Given the description of an element on the screen output the (x, y) to click on. 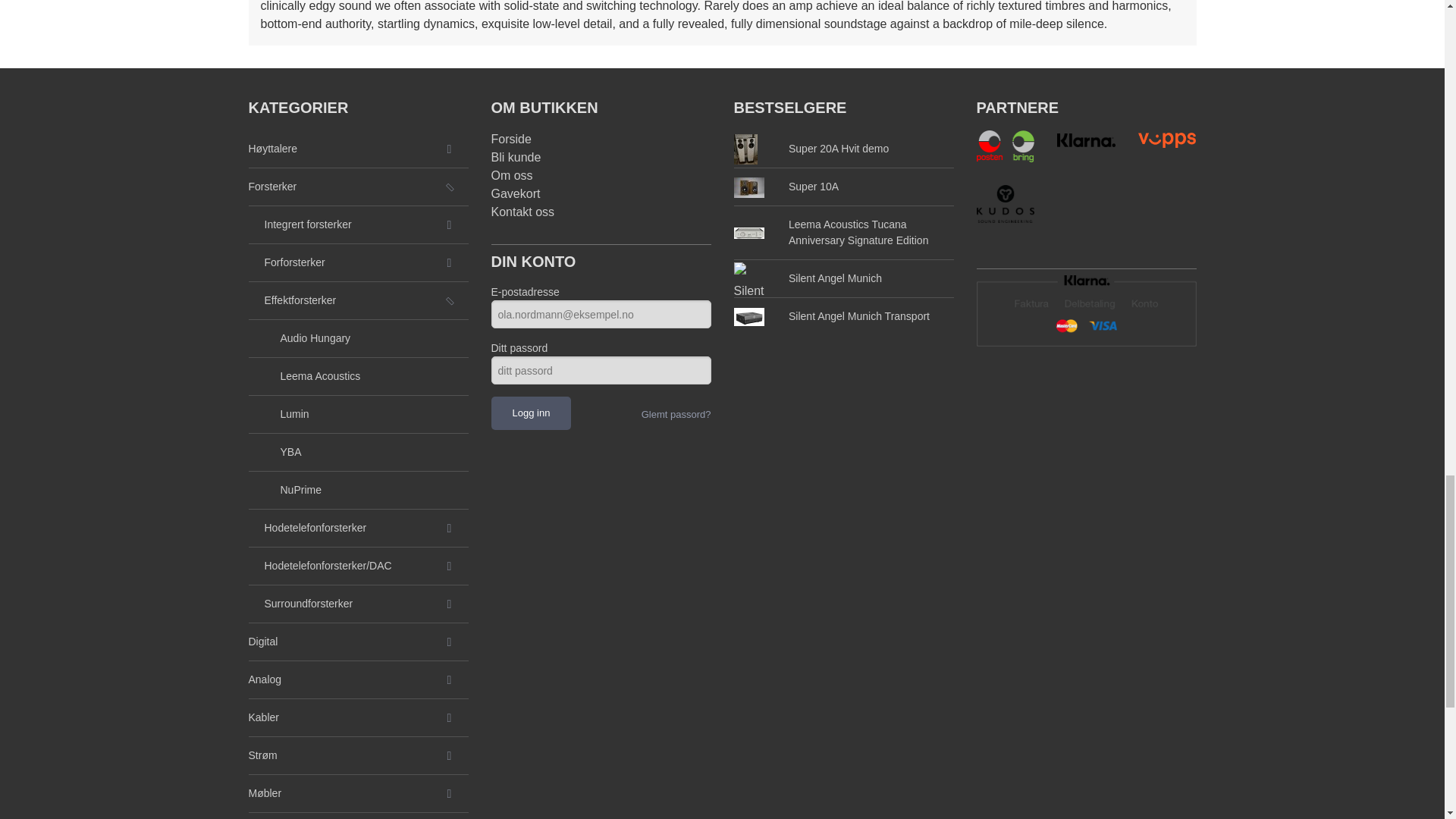
Logg inn (532, 412)
